Given the description of an element on the screen output the (x, y) to click on. 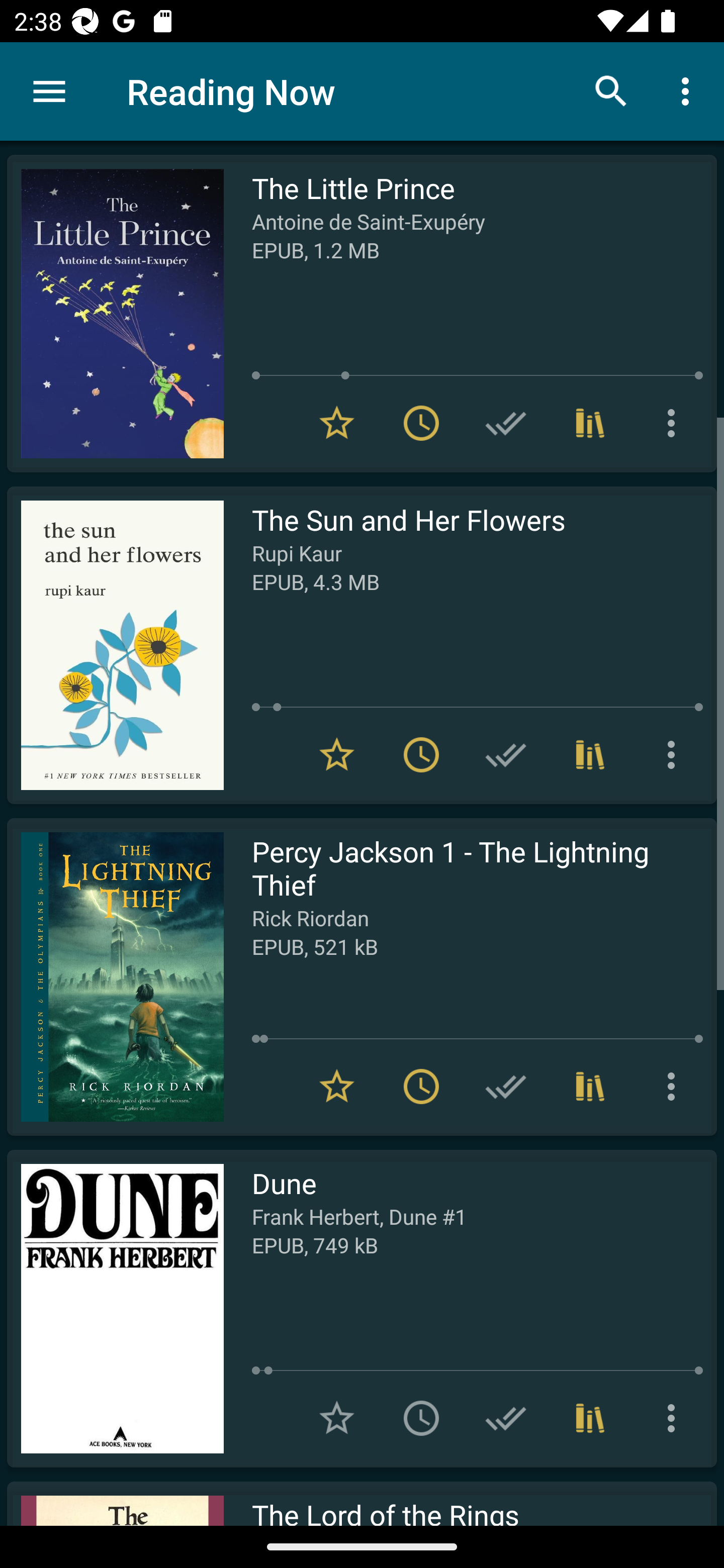
Menu (49, 91)
Search books & documents (611, 90)
More options (688, 90)
Read The Little Prince (115, 313)
Remove from Favorites (336, 423)
Remove from To read (421, 423)
Add to Have read (505, 423)
Collections (1) (590, 423)
More options (674, 423)
Read The Sun and Her Flowers (115, 645)
Remove from Favorites (336, 753)
Remove from To read (421, 753)
Add to Have read (505, 753)
Collections (1) (590, 753)
More options (674, 753)
Read Percy Jackson 1 - The Lightning Thief (115, 976)
Remove from Favorites (336, 1086)
Remove from To read (421, 1086)
Add to Have read (505, 1086)
Collections (1) (590, 1086)
More options (674, 1086)
Read Dune (115, 1308)
Add to Favorites (336, 1417)
Add to To read (421, 1417)
Add to Have read (505, 1417)
Collections (1) (590, 1417)
More options (674, 1417)
